Given the description of an element on the screen output the (x, y) to click on. 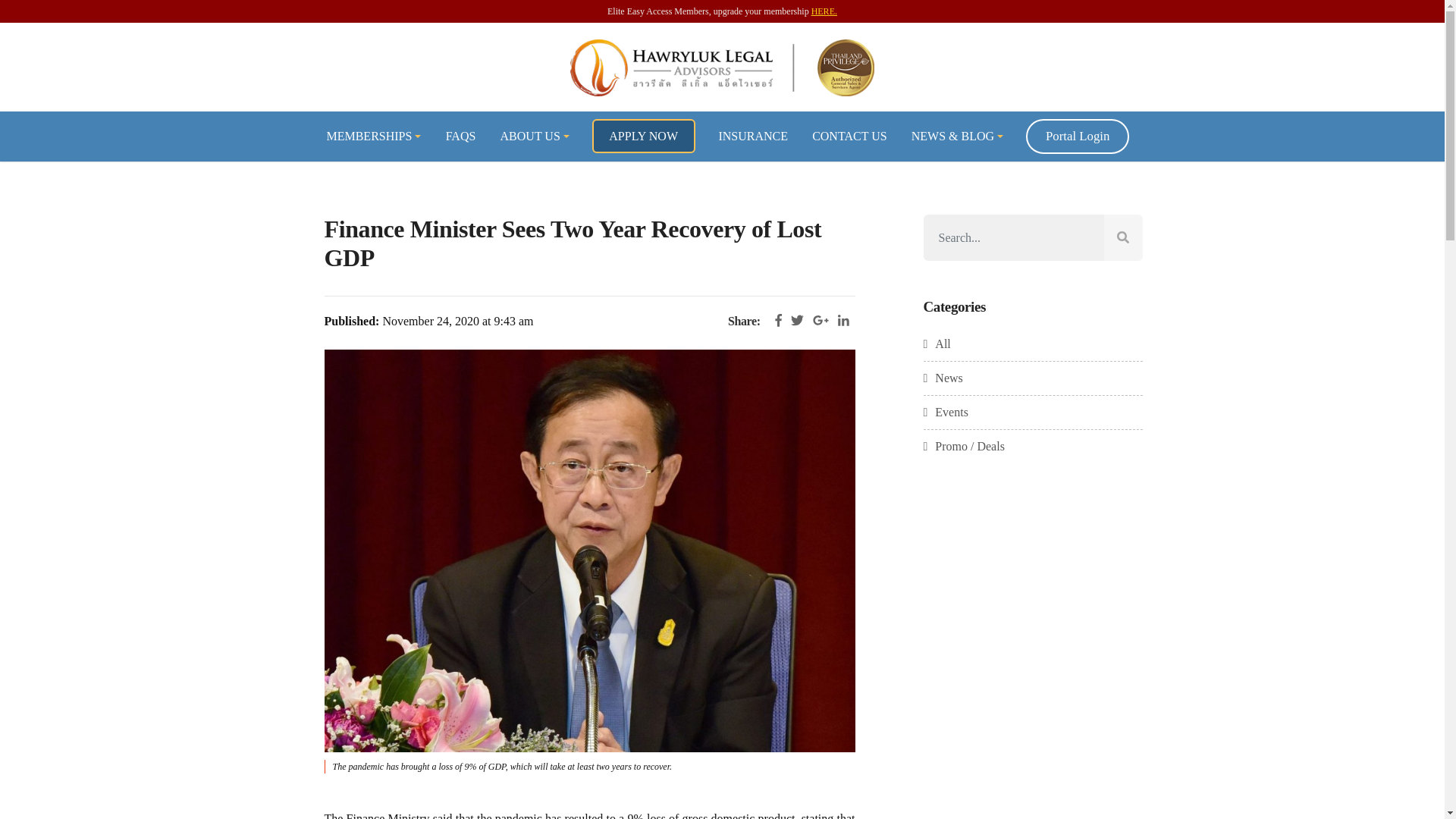
APPLY NOW (642, 135)
FAQS (460, 135)
MEMBERSHIPS (372, 135)
INSURANCE (752, 135)
Portal Login (1077, 135)
CONTACT US (850, 135)
Thailand Elite Visas (721, 67)
ABOUT US (534, 135)
All (936, 343)
